Given the description of an element on the screen output the (x, y) to click on. 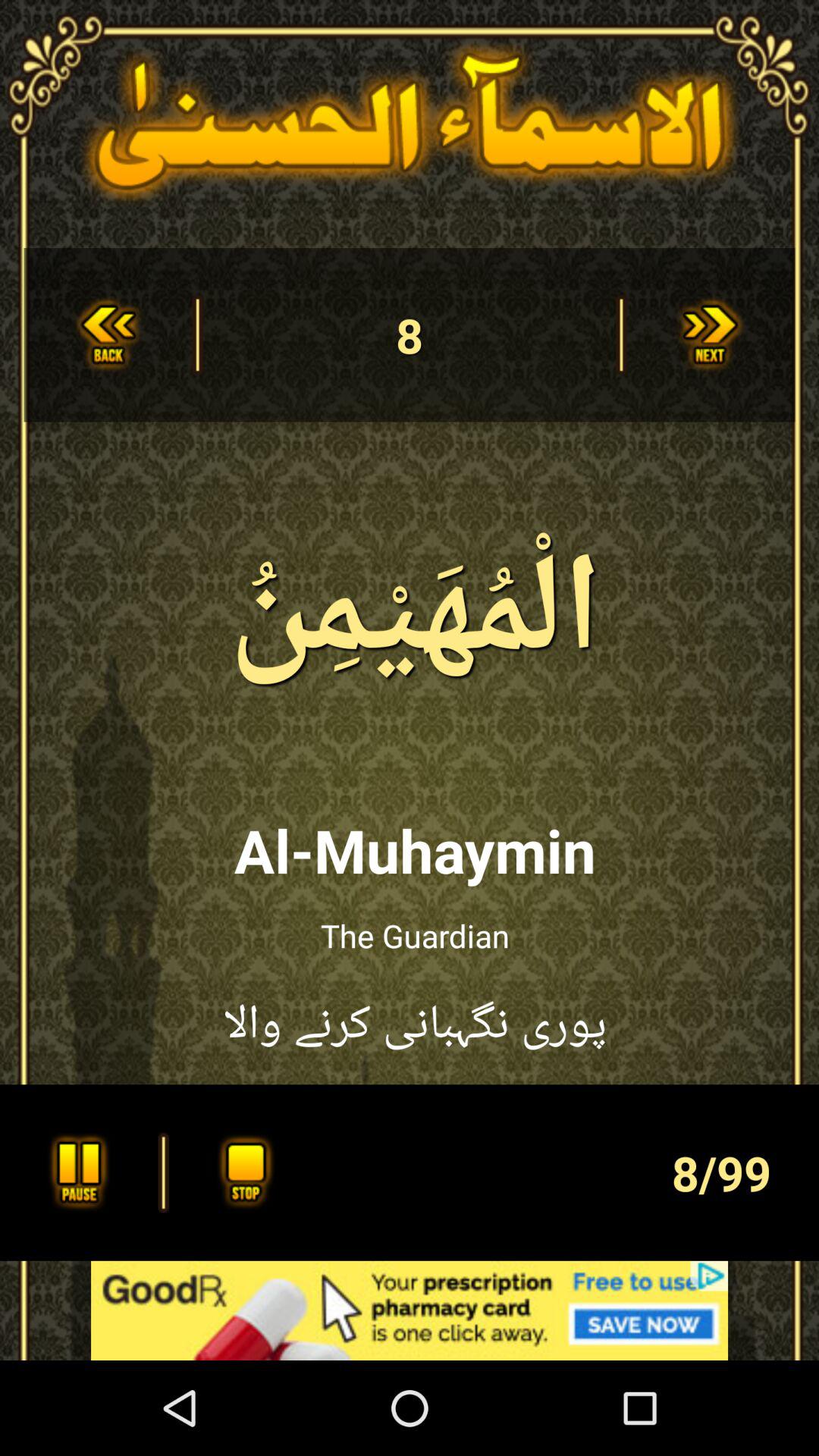
go back (107, 334)
